Given the description of an element on the screen output the (x, y) to click on. 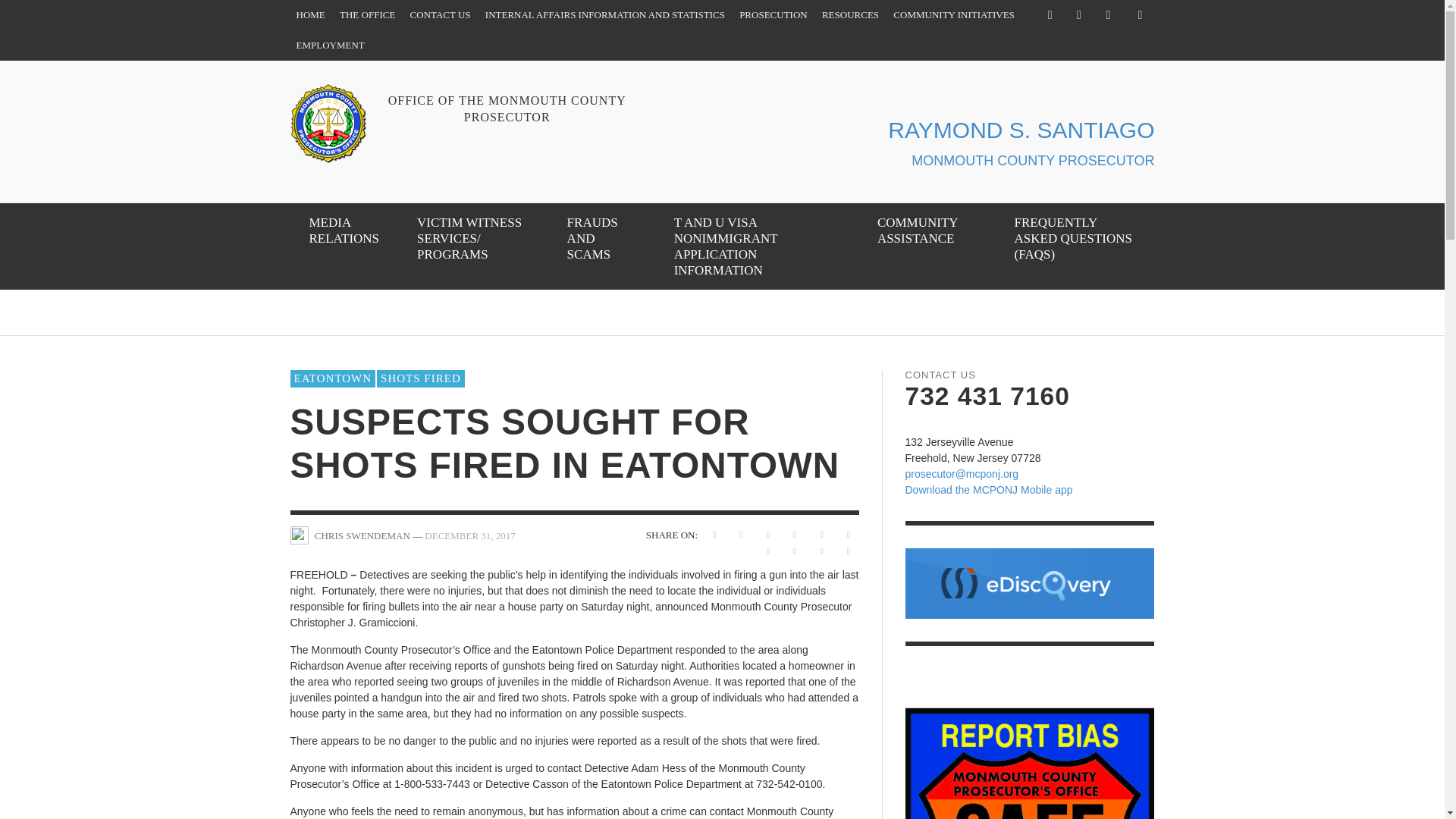
PROSECUTION (773, 15)
Youtube (1107, 15)
HOME (309, 15)
CONTACT US (440, 15)
Facebook (1049, 15)
Twitter (1078, 15)
THE OFFICE (367, 15)
INTERNAL AFFAIRS INFORMATION AND STATISTICS (604, 15)
